Given the description of an element on the screen output the (x, y) to click on. 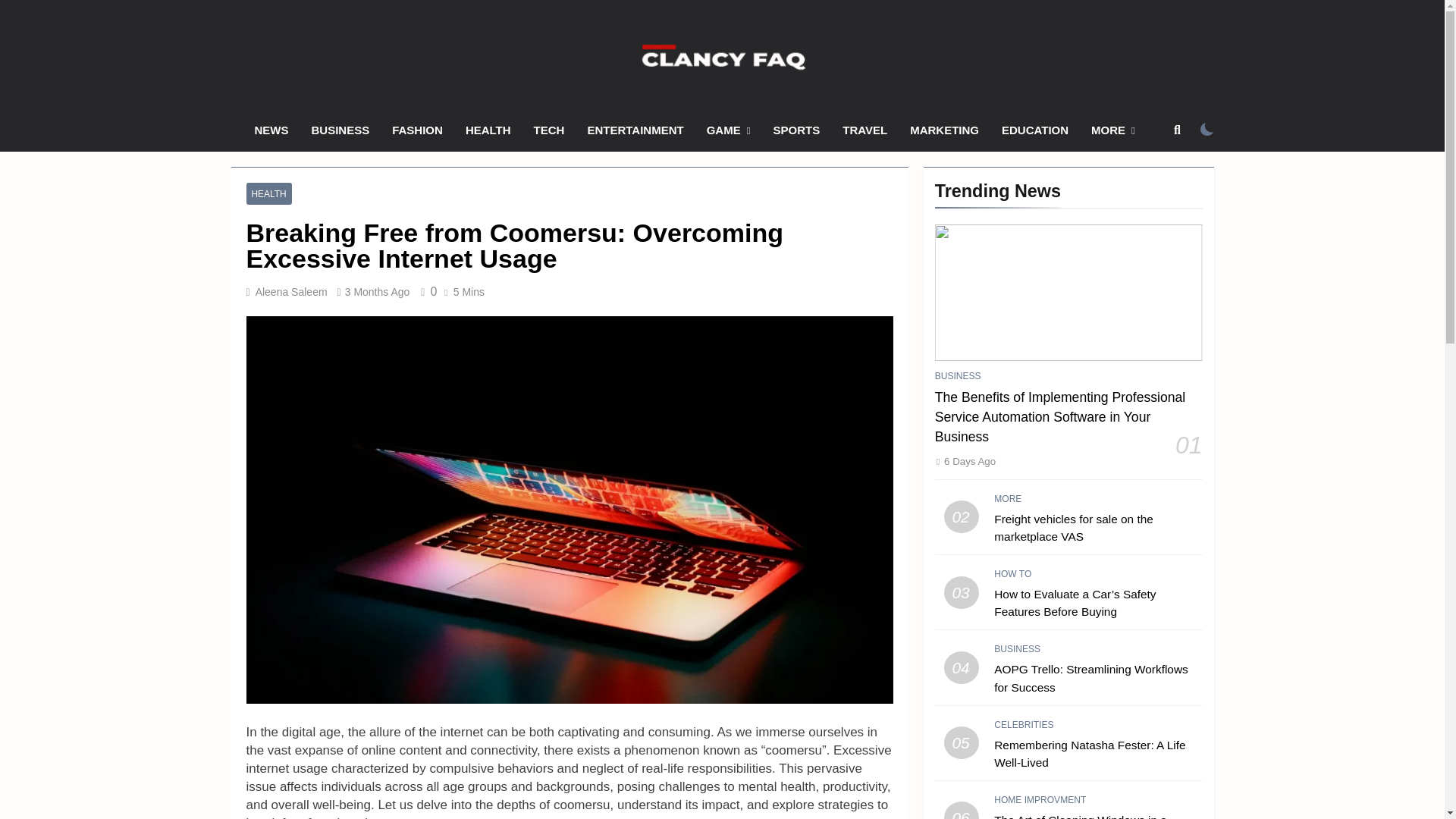
Clancy FAQ (570, 95)
HEALTH (488, 129)
TECH (549, 129)
HEALTH (268, 193)
MARKETING (944, 129)
0 (425, 291)
BUSINESS (340, 129)
SPORTS (796, 129)
Aleena Saleem (291, 291)
3 Months Ago (377, 291)
GAME (728, 130)
TRAVEL (864, 129)
EDUCATION (1035, 129)
FASHION (417, 129)
MORE (1113, 130)
